Given the description of an element on the screen output the (x, y) to click on. 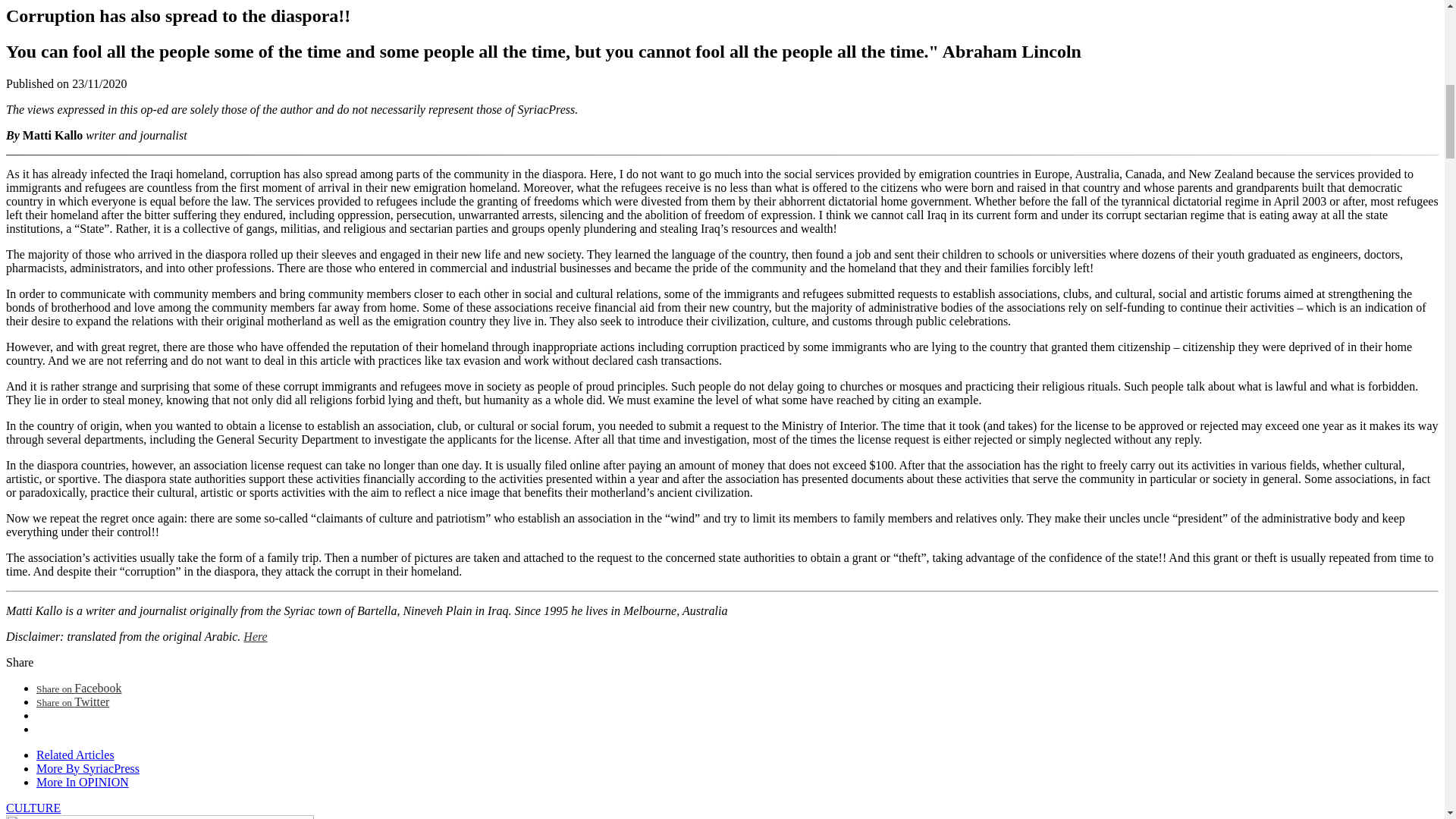
More In OPINION (82, 781)
twitter (72, 701)
CULTURE (33, 807)
Share on Facebook (79, 687)
Share on Twitter (72, 701)
More By SyriacPress (87, 768)
facebook (79, 687)
Related Articles (75, 754)
Here (254, 635)
